Given the description of an element on the screen output the (x, y) to click on. 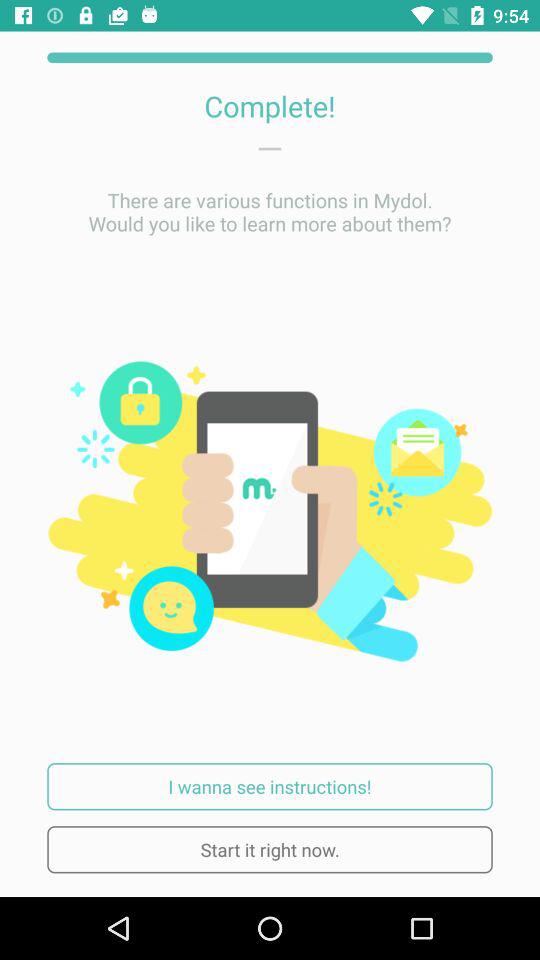
flip until i wanna see item (269, 786)
